Given the description of an element on the screen output the (x, y) to click on. 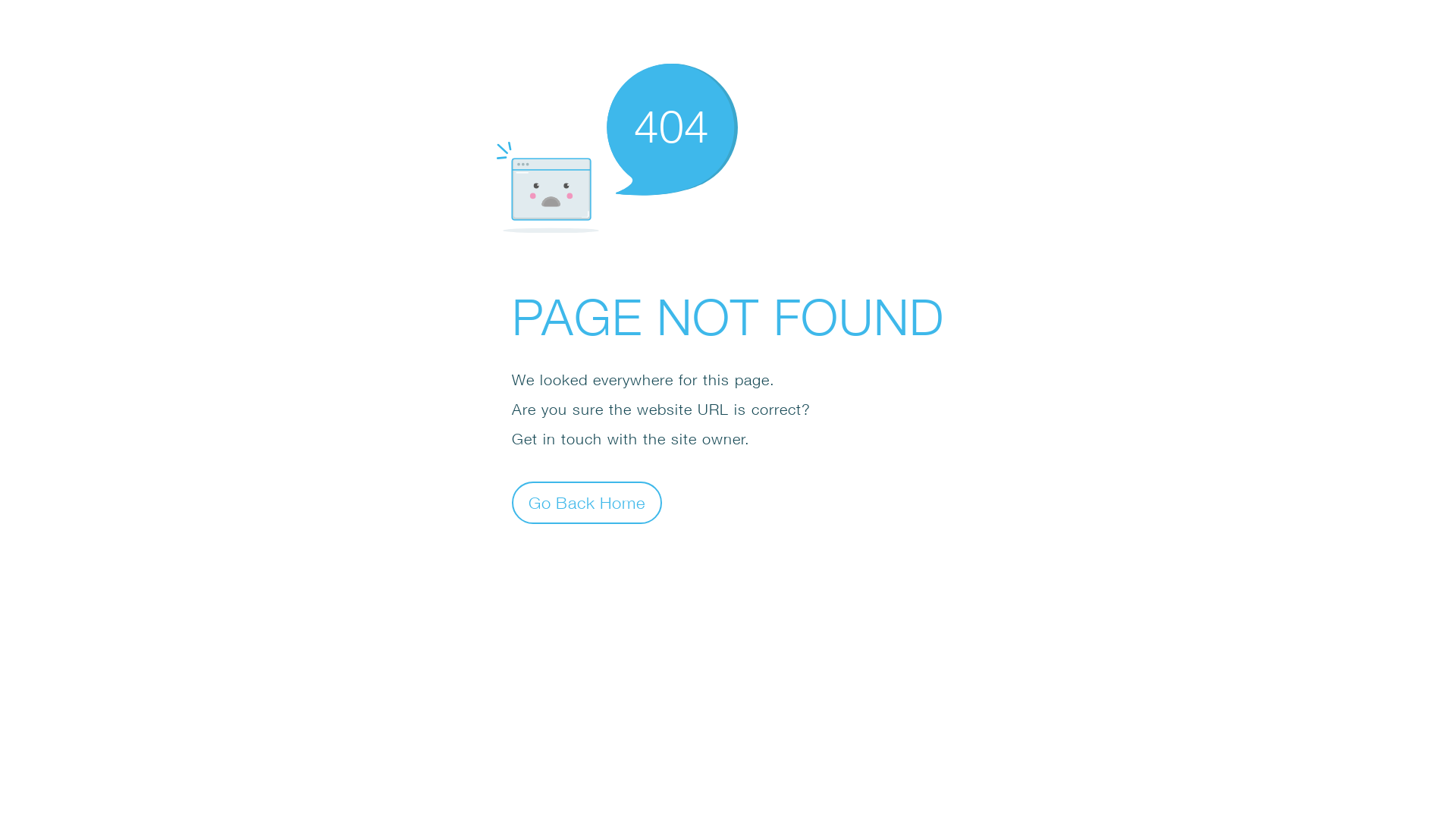
Go Back Home Element type: text (586, 502)
